Given the description of an element on the screen output the (x, y) to click on. 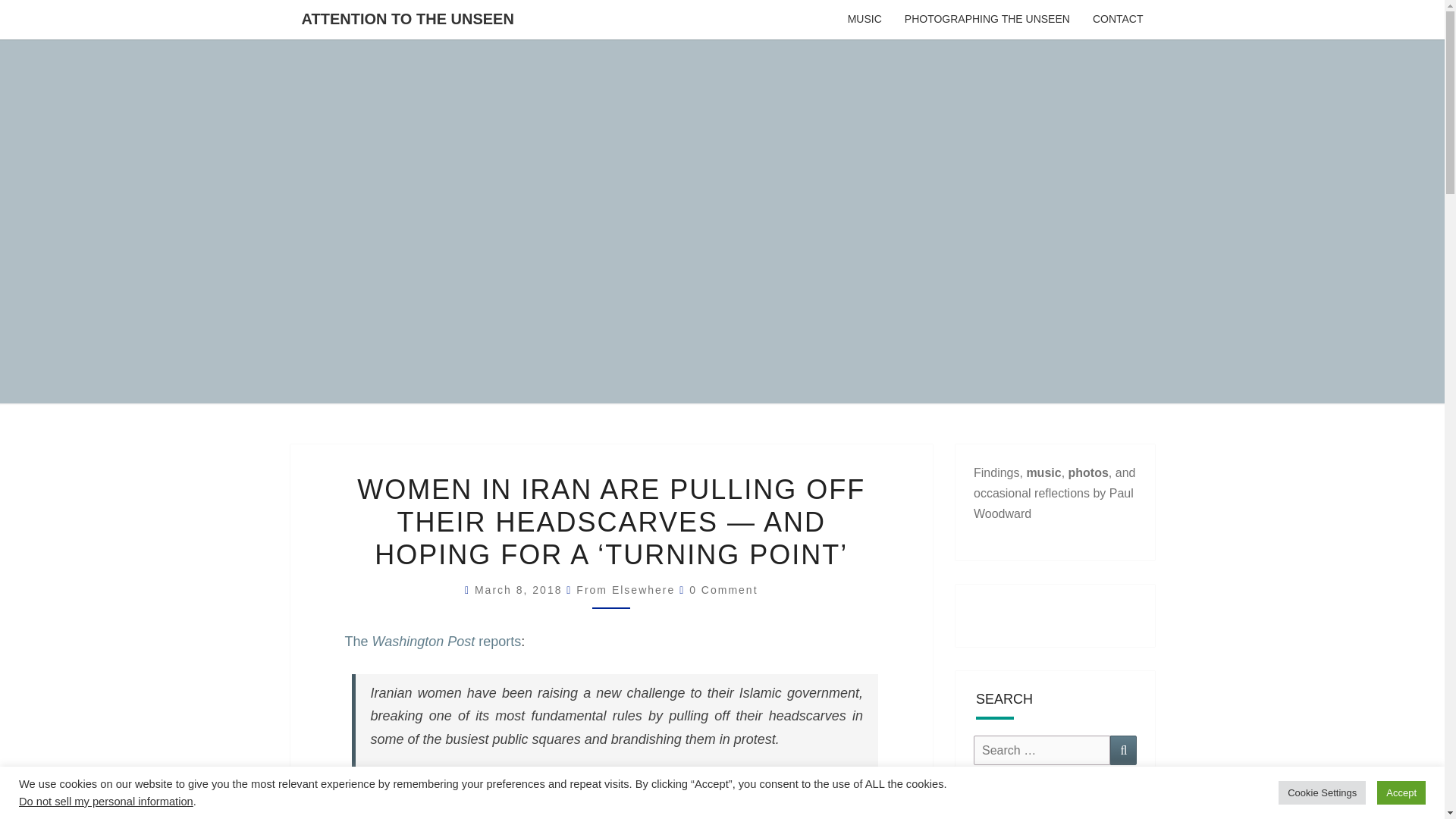
0 Comment (722, 589)
The Washington Post reports (432, 641)
MUSIC (864, 19)
7:17 pm (520, 589)
Search (1123, 749)
PHOTOGRAPHING THE UNSEEN (987, 19)
ATTENTION TO THE UNSEEN (406, 18)
music (1043, 472)
March 8, 2018 (520, 589)
Search for: (1041, 749)
CONTACT (1117, 19)
photos (1088, 472)
View all posts by From elsewhere (625, 589)
From Elsewhere (625, 589)
